Given the description of an element on the screen output the (x, y) to click on. 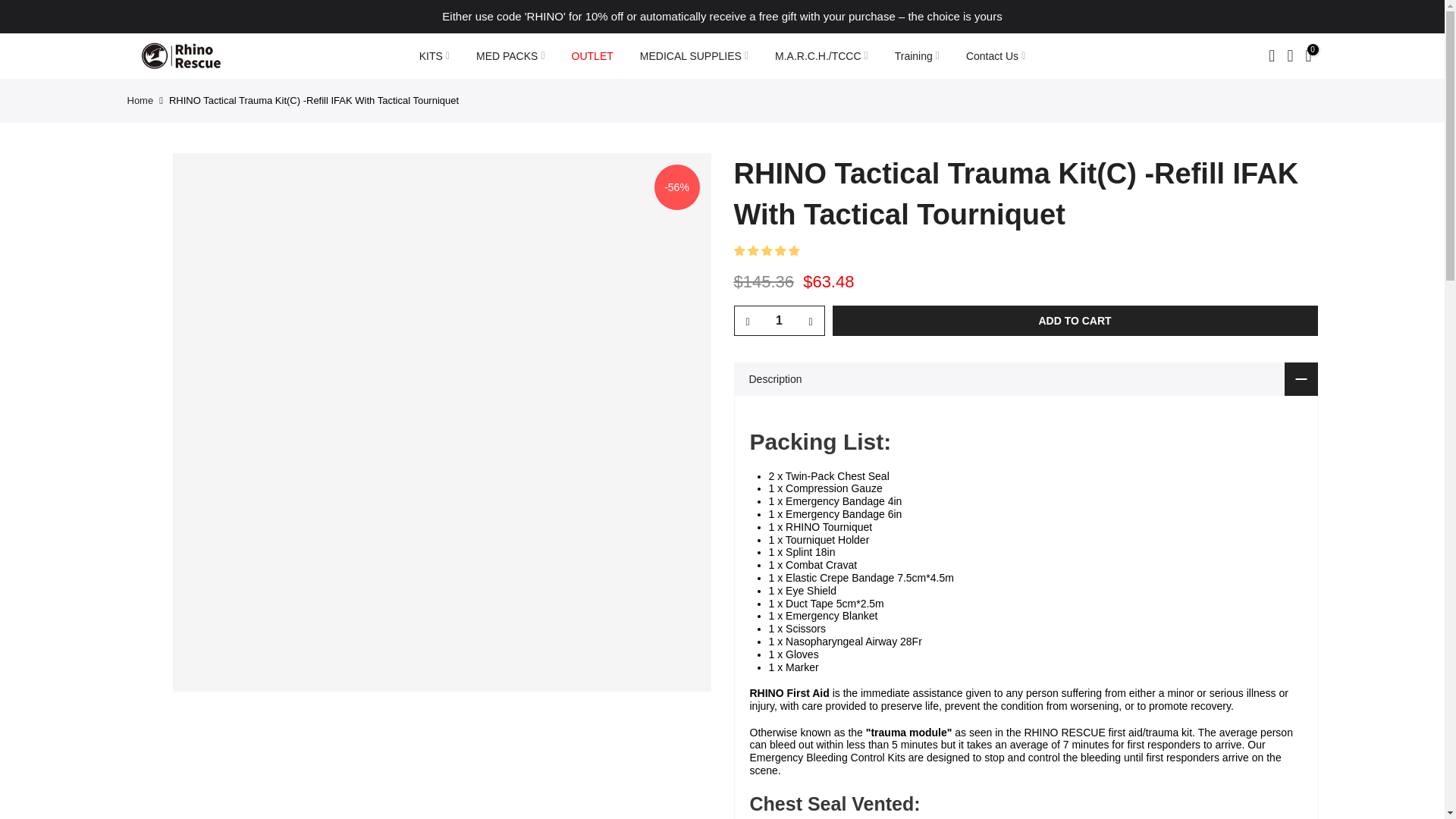
KITS (434, 55)
MED PACKS (510, 55)
1 (778, 320)
OUTLET (591, 55)
Training (916, 55)
MEDICAL SUPPLIES (693, 55)
